Given the description of an element on the screen output the (x, y) to click on. 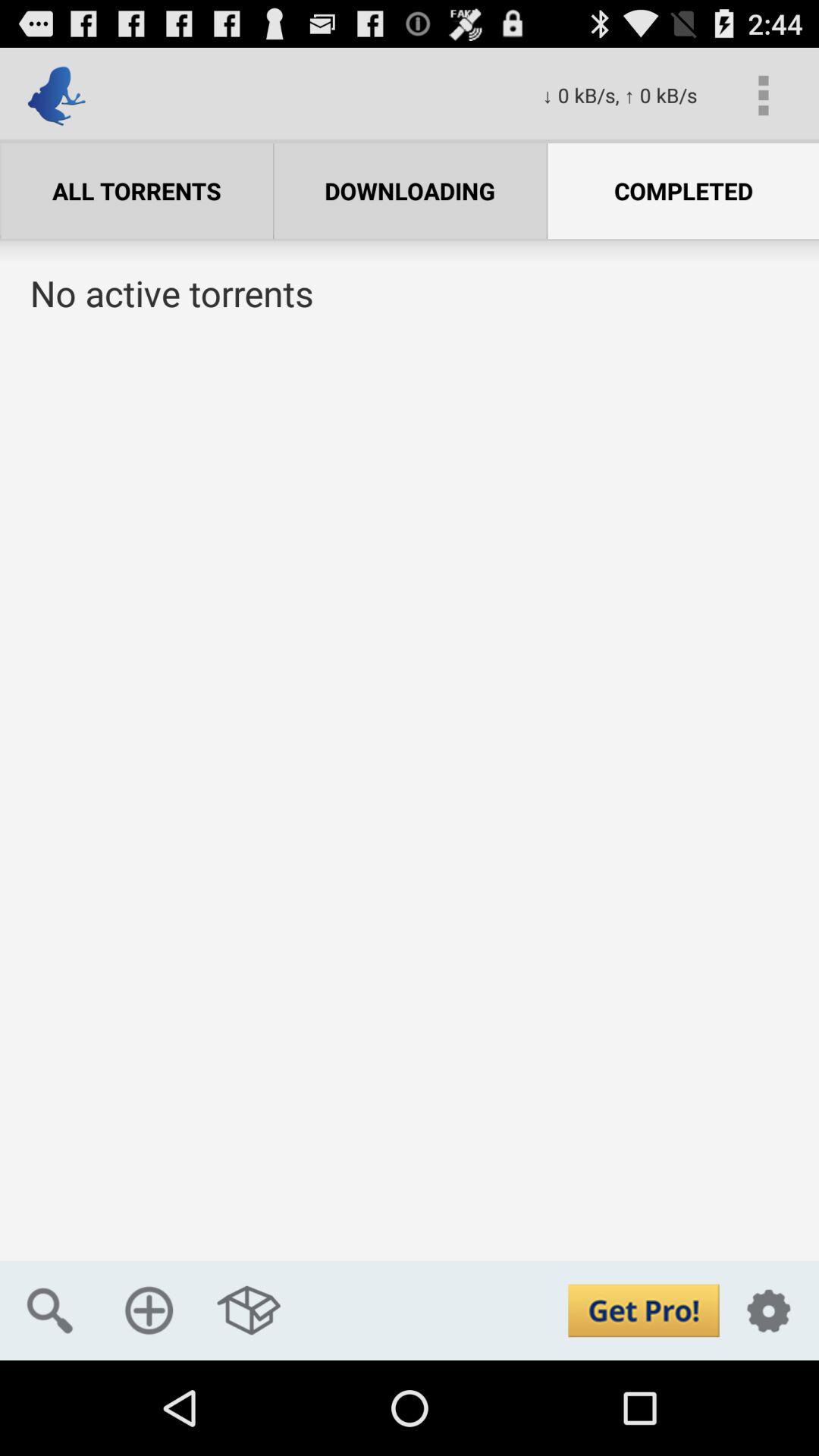
upgrade account (643, 1310)
